Given the description of an element on the screen output the (x, y) to click on. 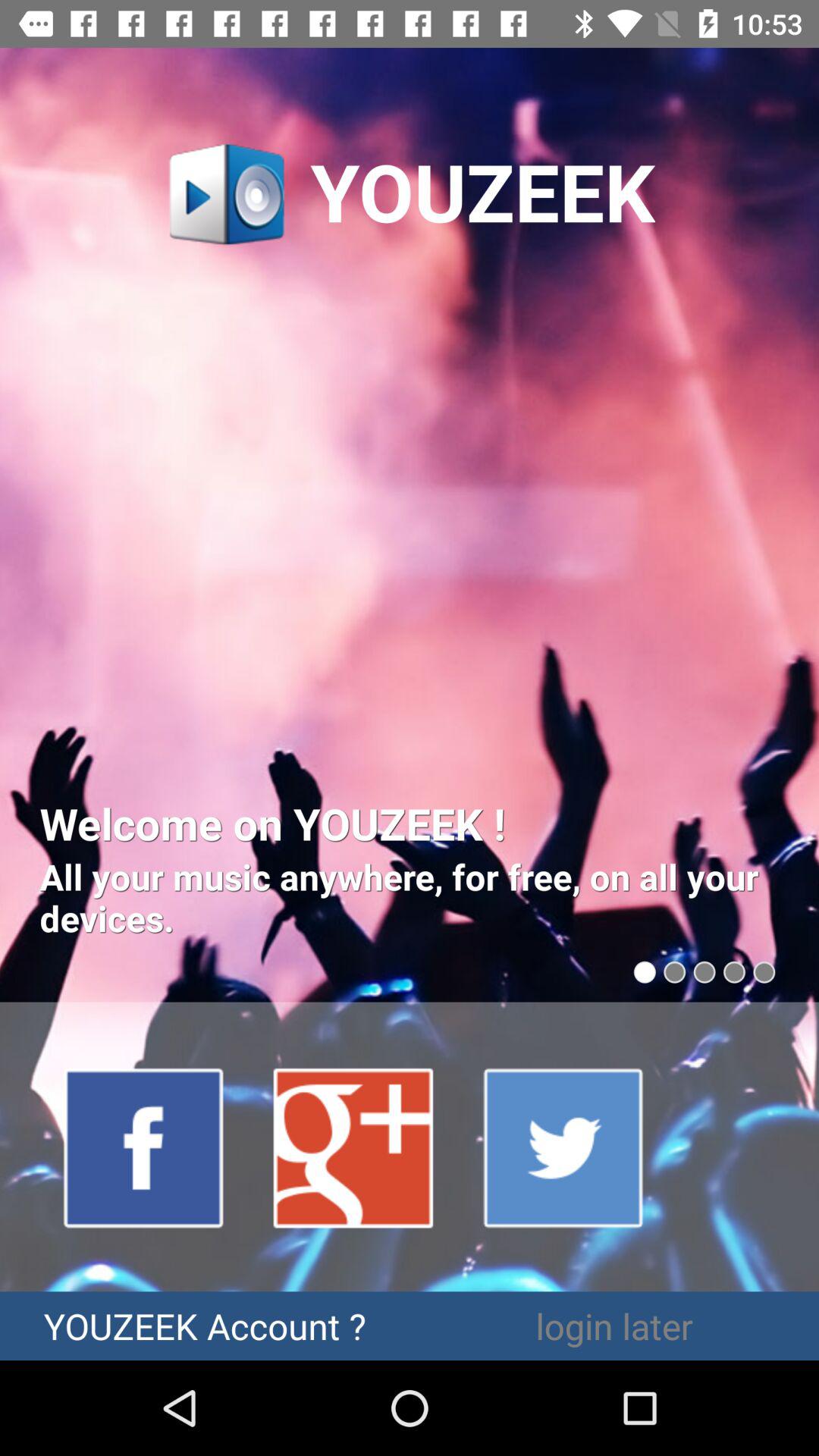
tap item to the right of youzeek account ? item (614, 1325)
